Given the description of an element on the screen output the (x, y) to click on. 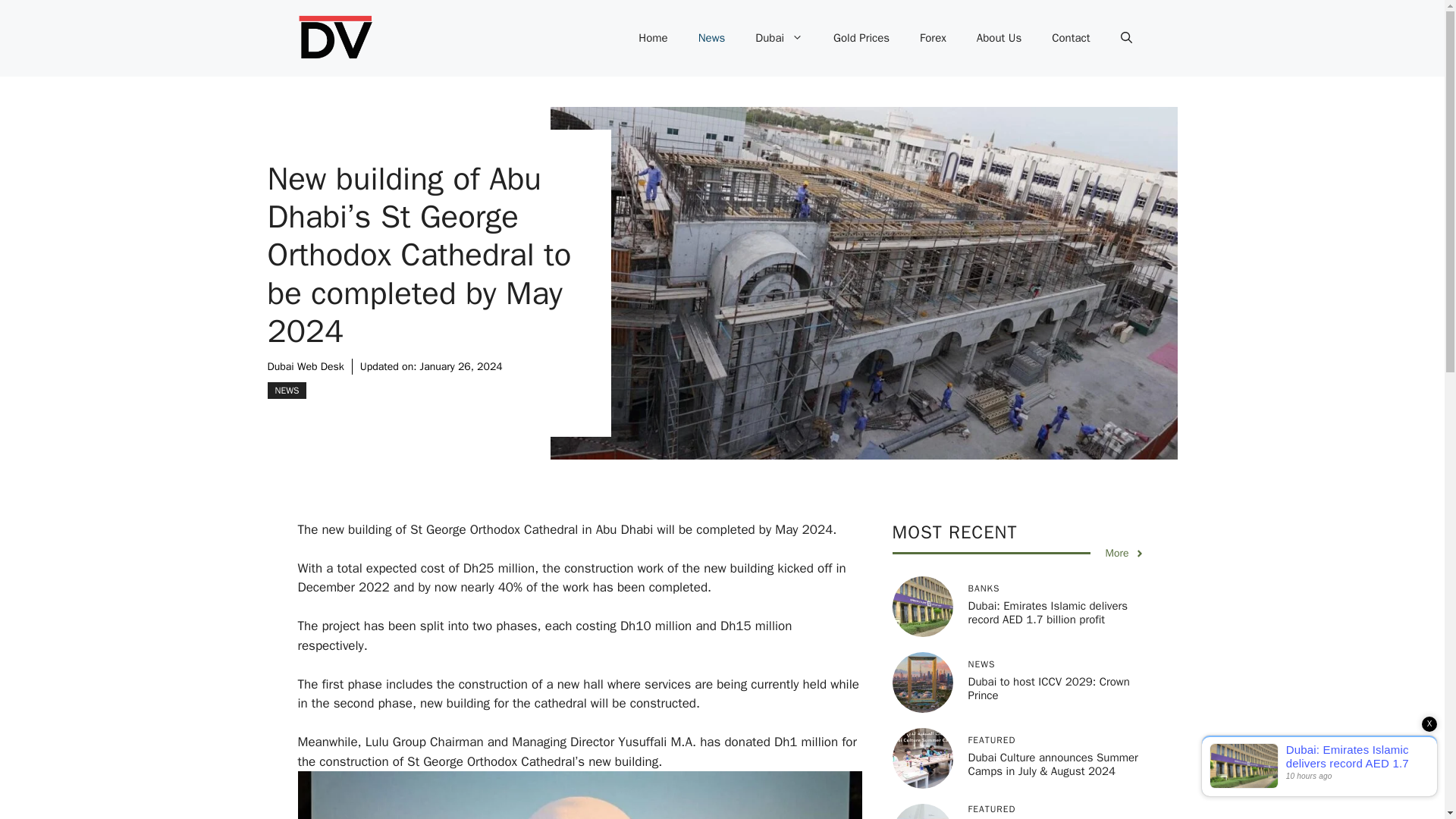
Dubai to host ICCV 2029: Crown Prince (1048, 687)
Home (652, 37)
Forex (932, 37)
Dubai (778, 37)
Contact (1070, 37)
News (711, 37)
More (1124, 553)
Dubai Web Desk (304, 365)
NEWS (285, 390)
Gold Prices (861, 37)
About Us (998, 37)
